Given the description of an element on the screen output the (x, y) to click on. 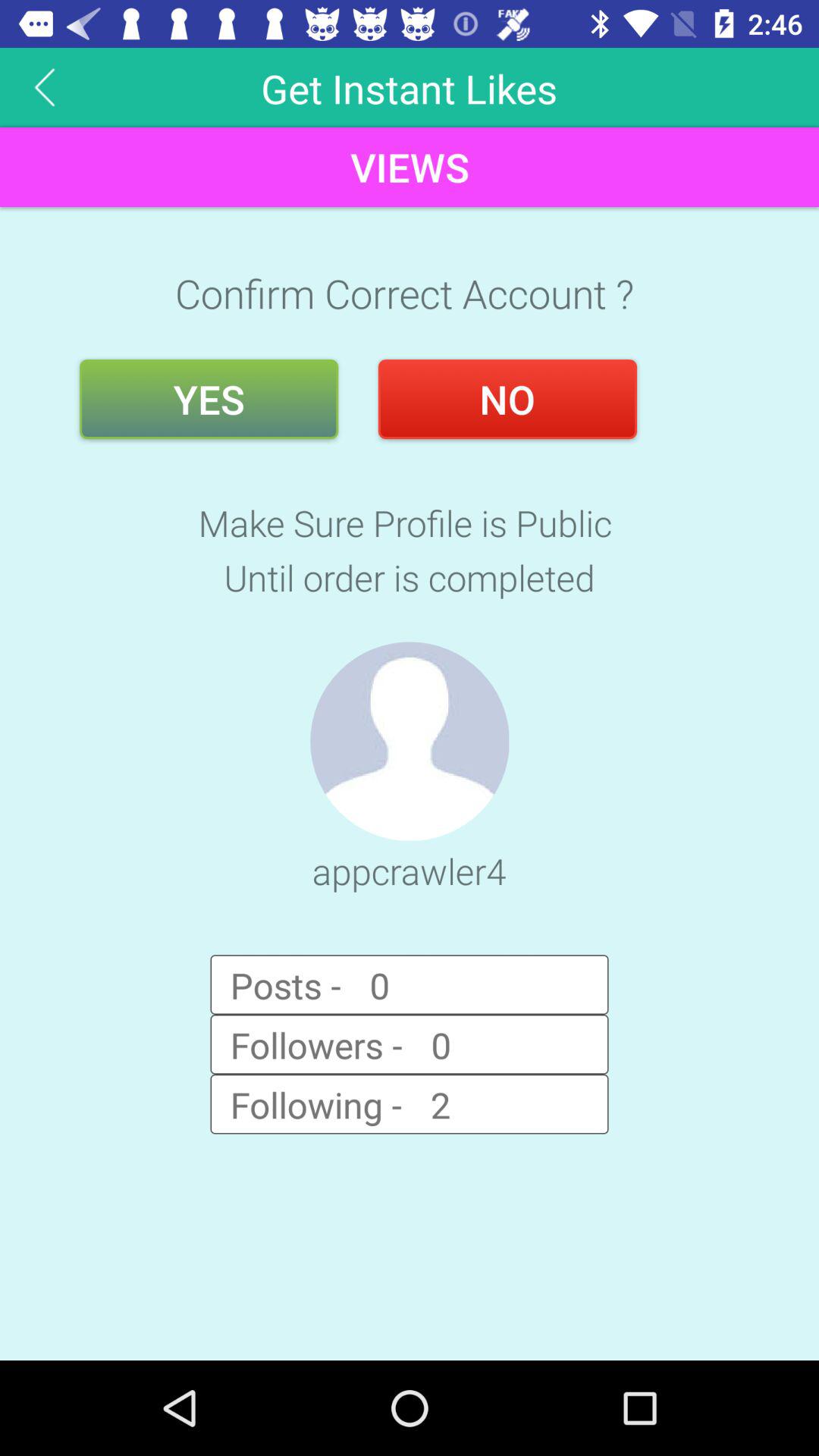
launch yes item (208, 399)
